Given the description of an element on the screen output the (x, y) to click on. 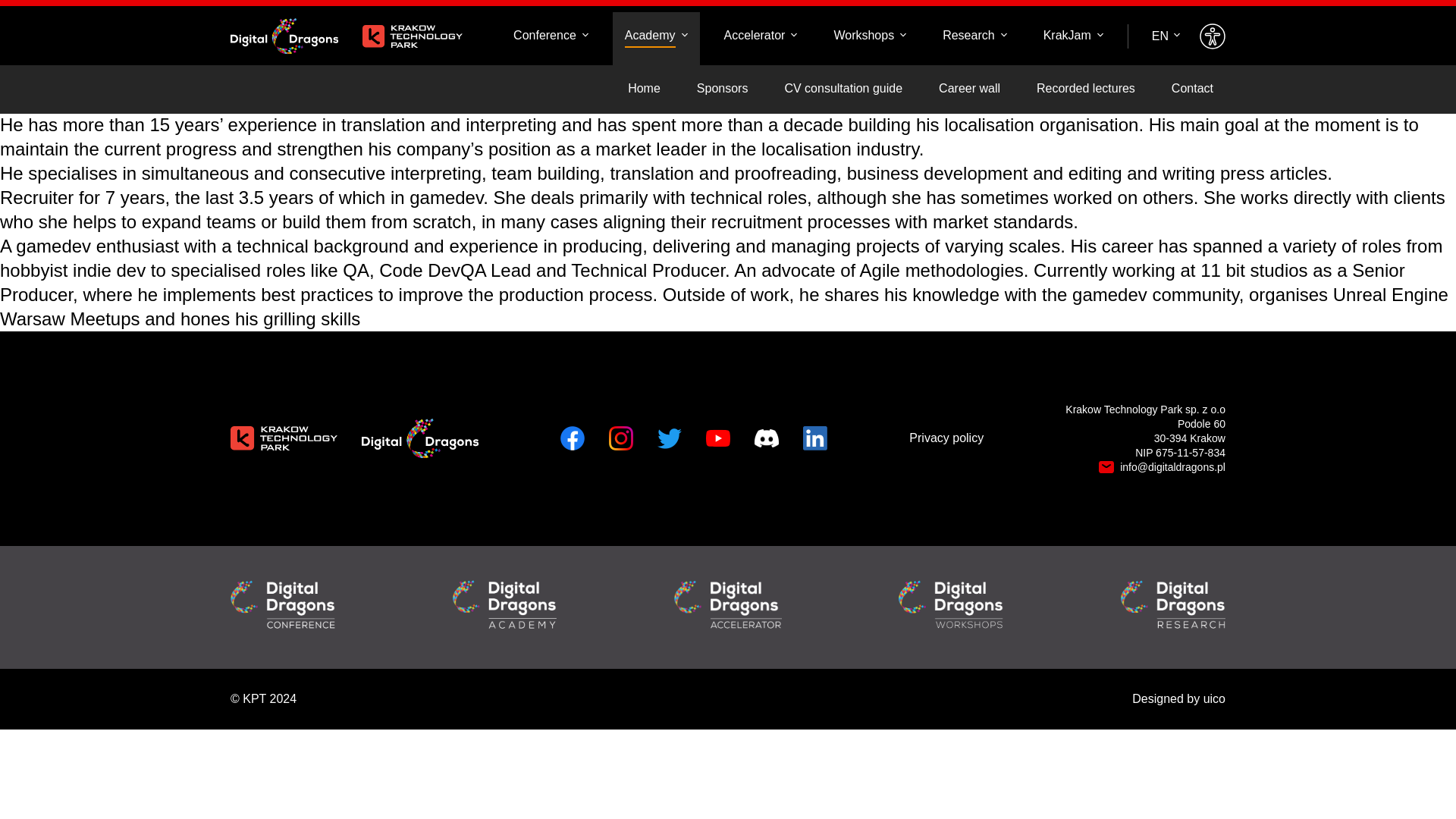
Sponsors (722, 89)
Accelerator (760, 35)
Career wall (968, 89)
Academy (656, 35)
KrakJam (1072, 35)
Workshops (869, 35)
CV consultation guide (842, 89)
Home (643, 89)
Recorded lectures (1086, 89)
Conference (549, 35)
Research (973, 35)
Contact (1191, 89)
